Given the description of an element on the screen output the (x, y) to click on. 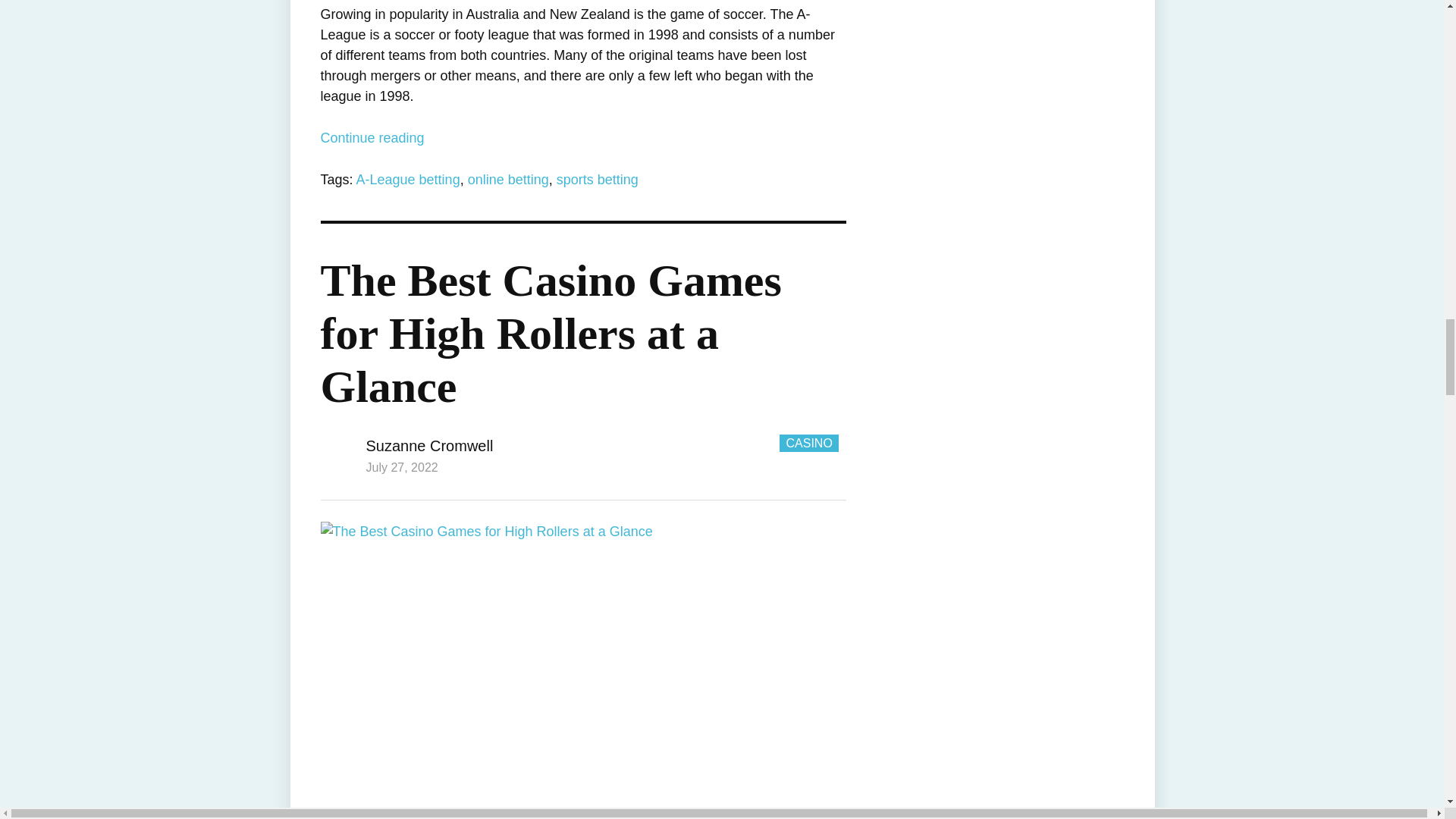
A-League betting (408, 179)
